Given the description of an element on the screen output the (x, y) to click on. 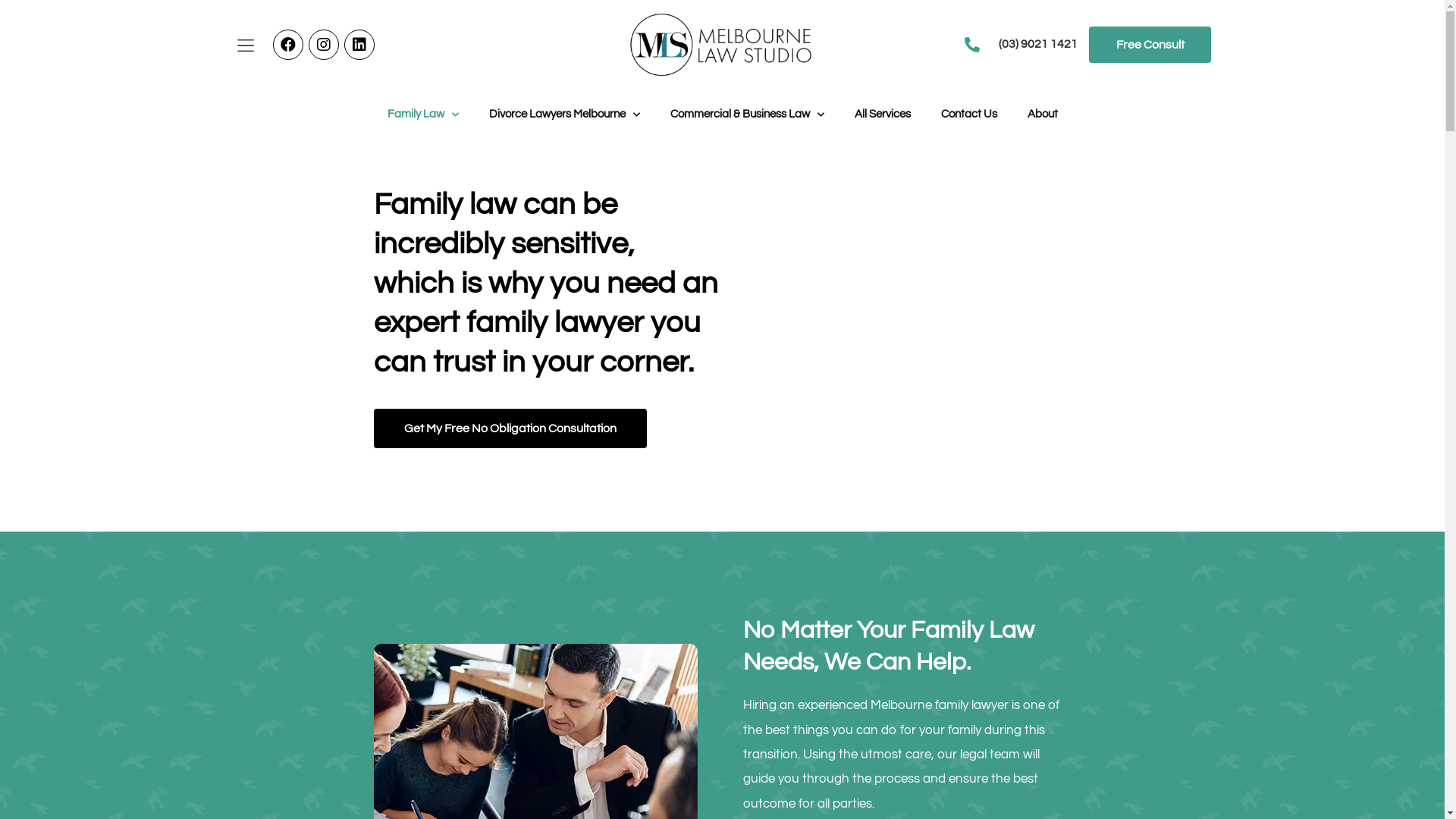
All Services Element type: text (881, 114)
Family Law Element type: text (422, 114)
(03) 9021 1421 Element type: text (1037, 43)
Commercial & Business Law Element type: text (747, 114)
Contact Us Element type: text (968, 114)
About Element type: text (1041, 114)
Divorce Lawyers Melbourne Element type: text (563, 114)
Get My Free No Obligation Consultation Element type: text (509, 428)
Free Consult Element type: text (1149, 44)
